Given the description of an element on the screen output the (x, y) to click on. 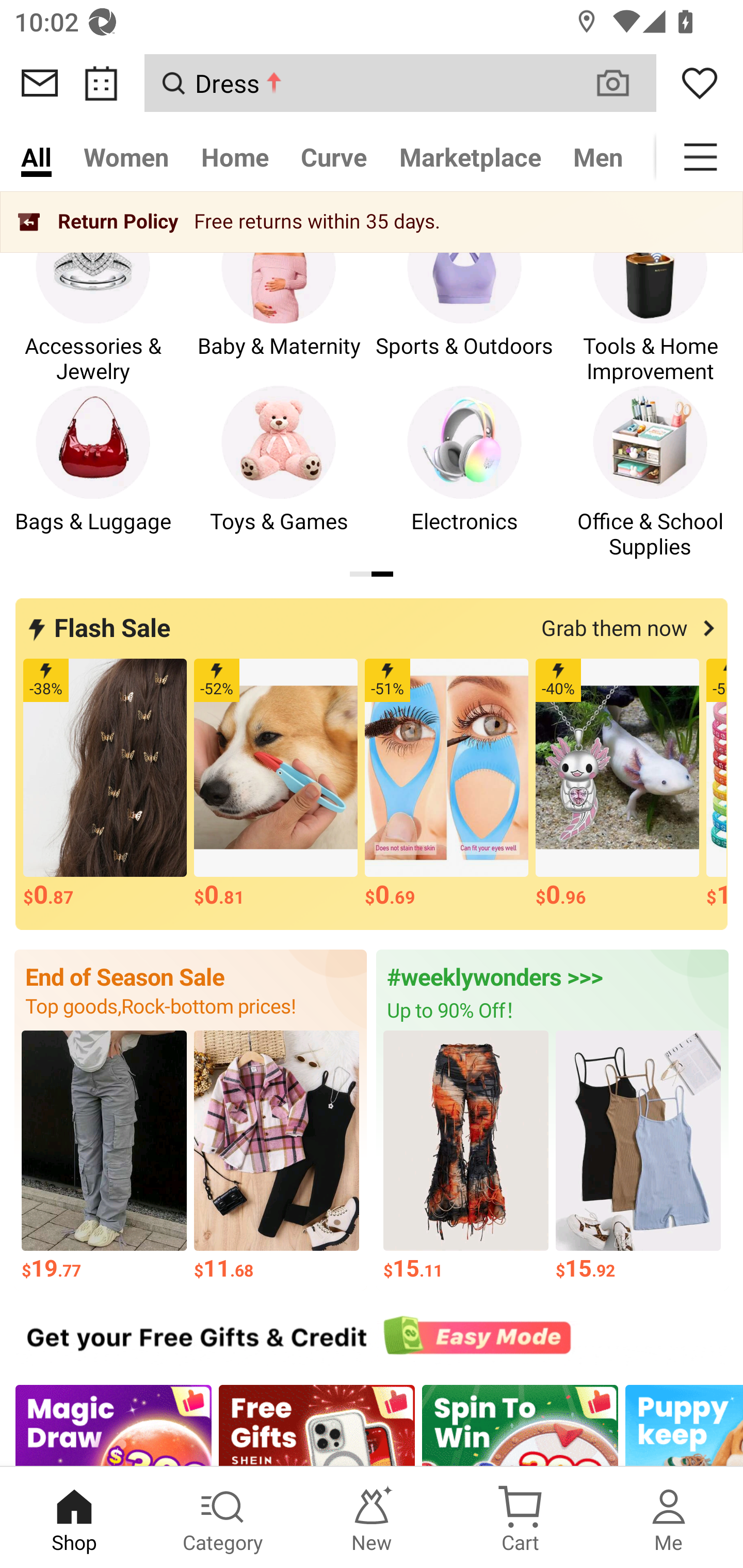
Wishlist (699, 82)
VISUAL SEARCH (623, 82)
All (36, 156)
Women (126, 156)
Home (234, 156)
Curve (333, 156)
Marketplace (470, 156)
Men (597, 156)
Return Policy   Free returns within 35 days. (371, 221)
Accessories & Jewelry (92, 297)
Baby & Maternity (278, 297)
Sports & Outdoors (464, 297)
Tools & Home Improvement (650, 297)
Bags & Luggage (92, 473)
Toys & Games (278, 473)
Electronics (464, 473)
Office & School Supplies (650, 473)
$19.77 Price $19.77 (103, 1156)
$11.68 Price $11.68 (276, 1156)
$15.11 Price $15.11 (465, 1156)
$15.92 Price $15.92 (638, 1156)
New (371, 1517)
Cart (519, 1517)
Me (668, 1517)
